Given the description of an element on the screen output the (x, y) to click on. 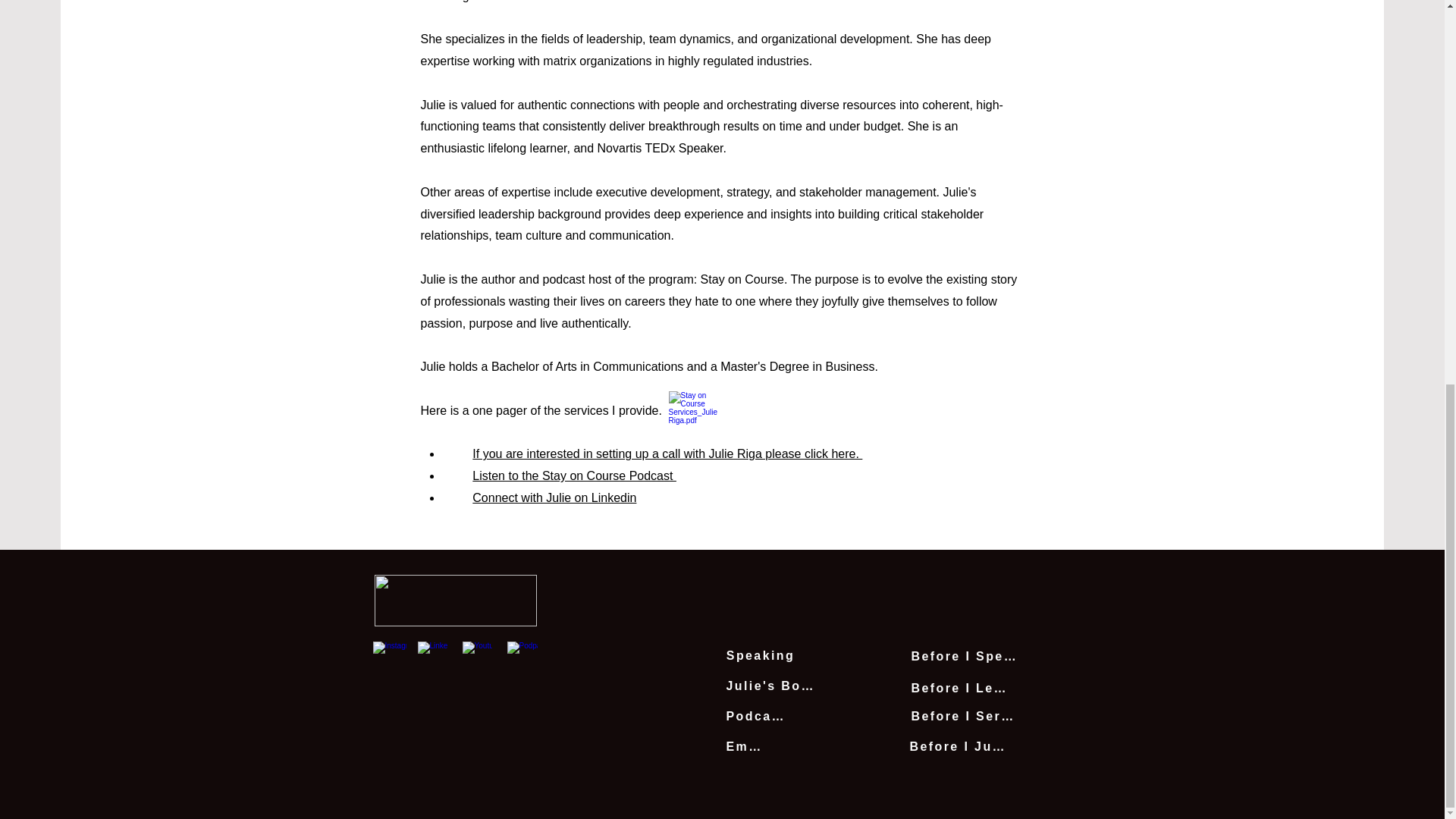
Listen to the Stay on Course Podcast  (574, 475)
Connect with Julie on Linkedin (553, 497)
Julie's Book (769, 685)
Podcast (756, 716)
Before I Jump (960, 747)
Email (746, 747)
Speaking (760, 655)
Before I Lead (960, 688)
Before I Serve (962, 716)
Before I Speak (964, 656)
